Given the description of an element on the screen output the (x, y) to click on. 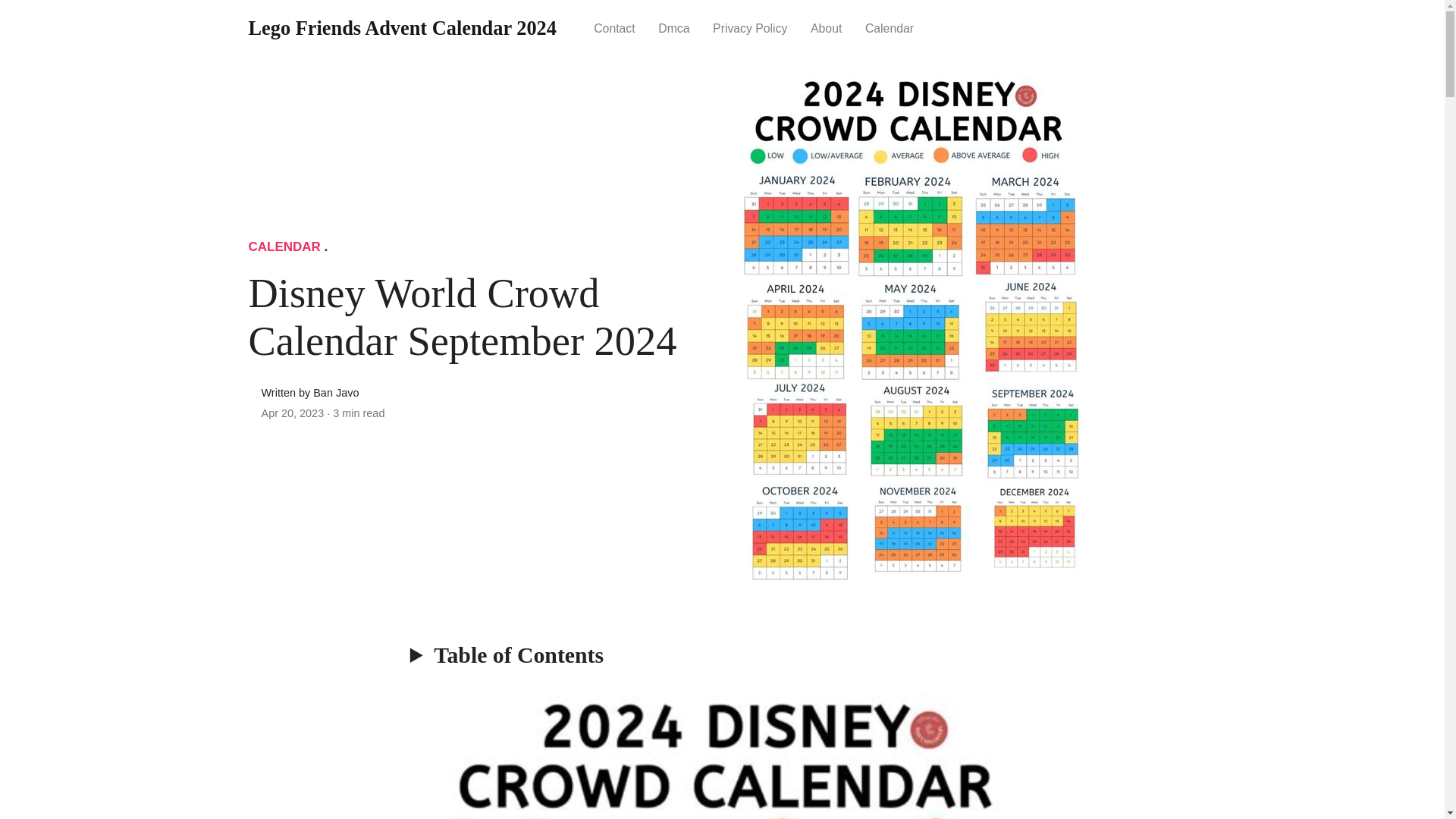
About (826, 27)
Lego Friends Advent Calendar 2024 (402, 28)
Contact (614, 27)
Dmca (673, 27)
CALENDAR (284, 246)
CALENDAR (284, 246)
Privacy Policy (750, 27)
calendar (889, 27)
Calendar (889, 27)
